Given the description of an element on the screen output the (x, y) to click on. 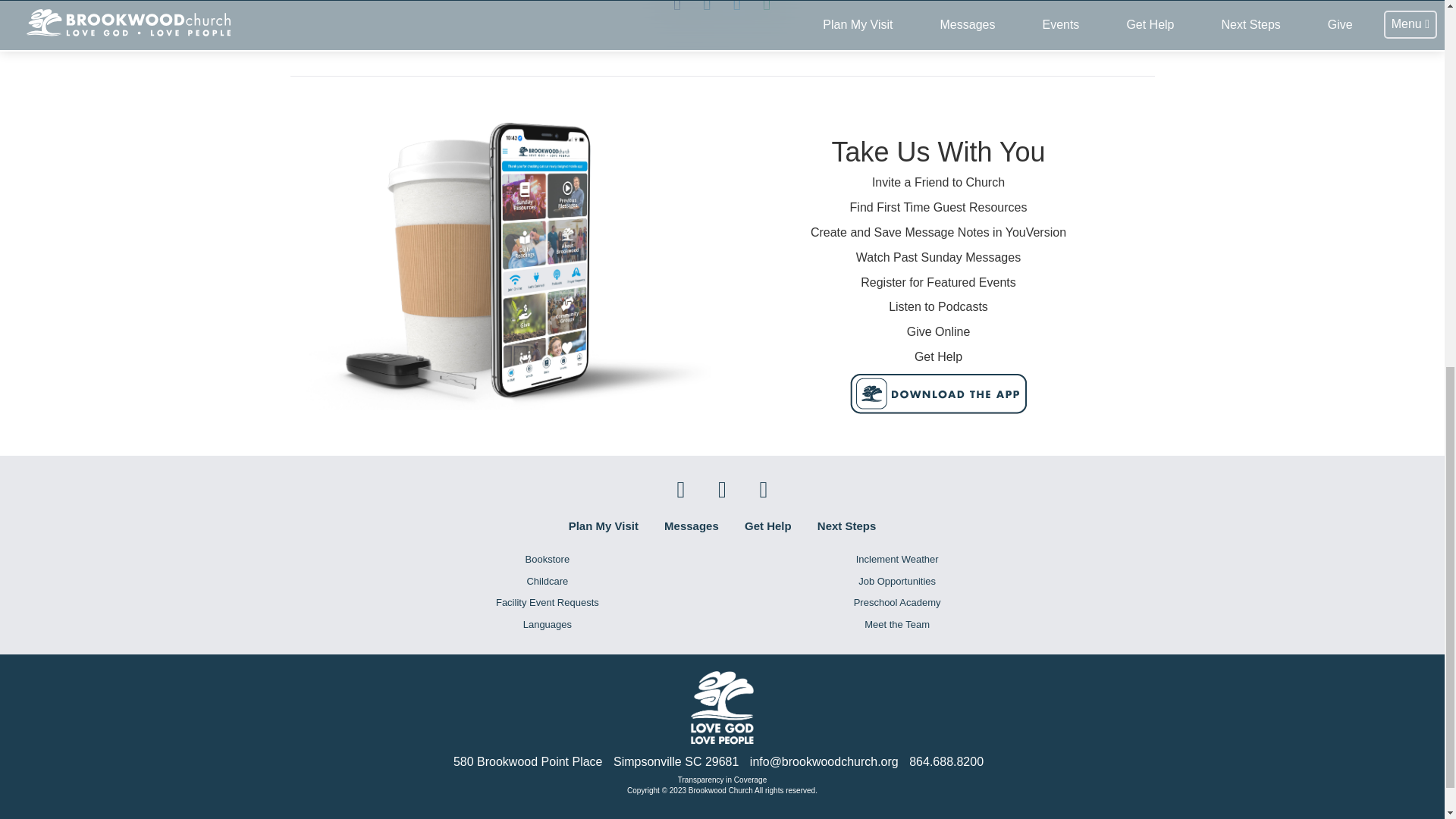
Next Steps (846, 525)
Job Opportunities (897, 581)
Inclement Weather (897, 559)
Facility Event Requests (547, 603)
Messages (691, 525)
Languages (547, 625)
Get Help (768, 525)
Bookstore (547, 559)
Plan My Visit (604, 525)
Childcare (547, 581)
